Given the description of an element on the screen output the (x, y) to click on. 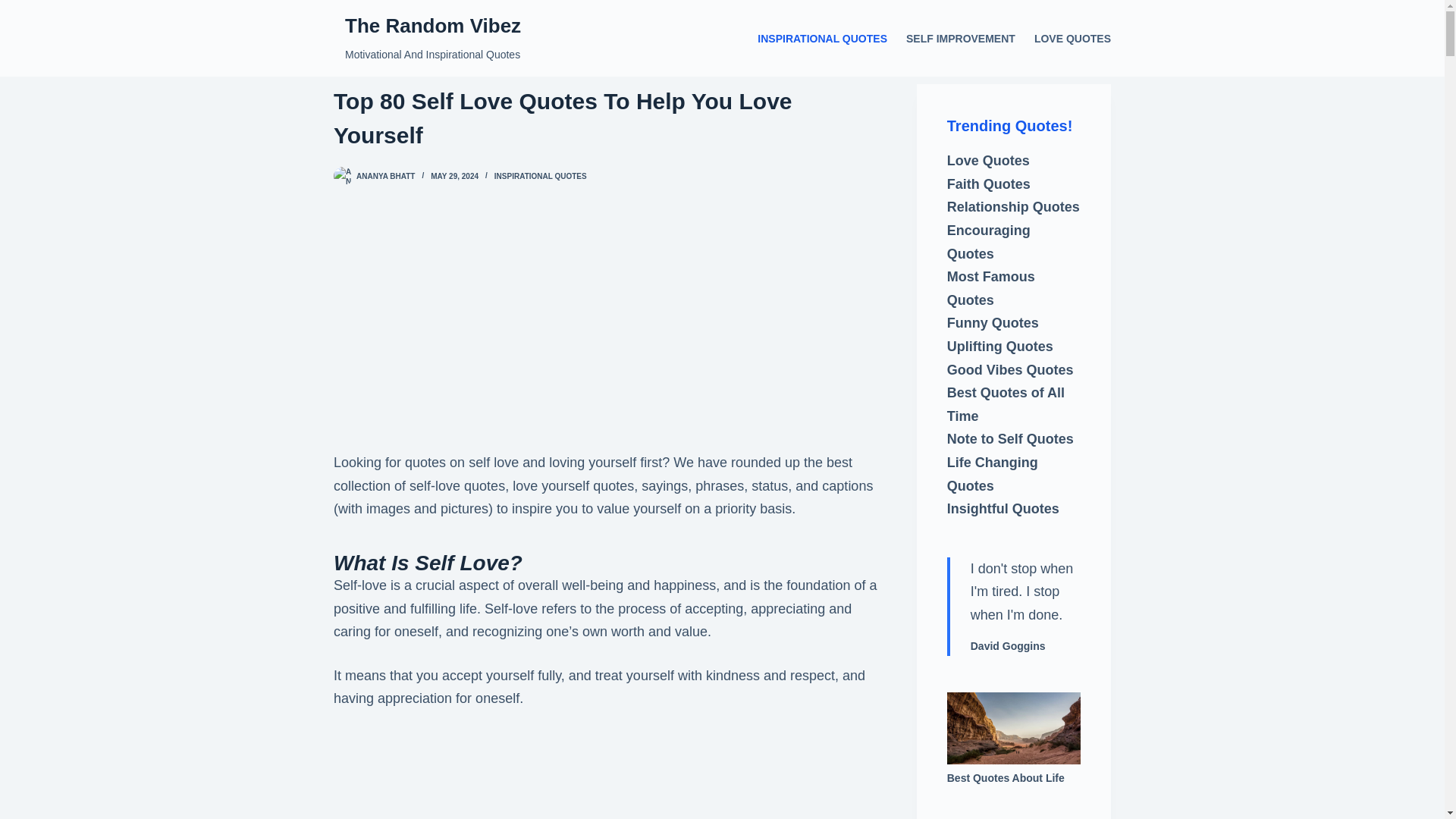
Advertisement (609, 345)
ANANYA BHATT (385, 175)
SELF IMPROVEMENT (960, 38)
The Random Vibez (433, 25)
Skip to content (15, 7)
Top 80 Self Love Quotes To Help You Love Yourself (609, 118)
Advertisement (609, 775)
LOVE QUOTES (1067, 38)
INSPIRATIONAL QUOTES (540, 175)
Posts by Ananya Bhatt (385, 175)
